Given the description of an element on the screen output the (x, y) to click on. 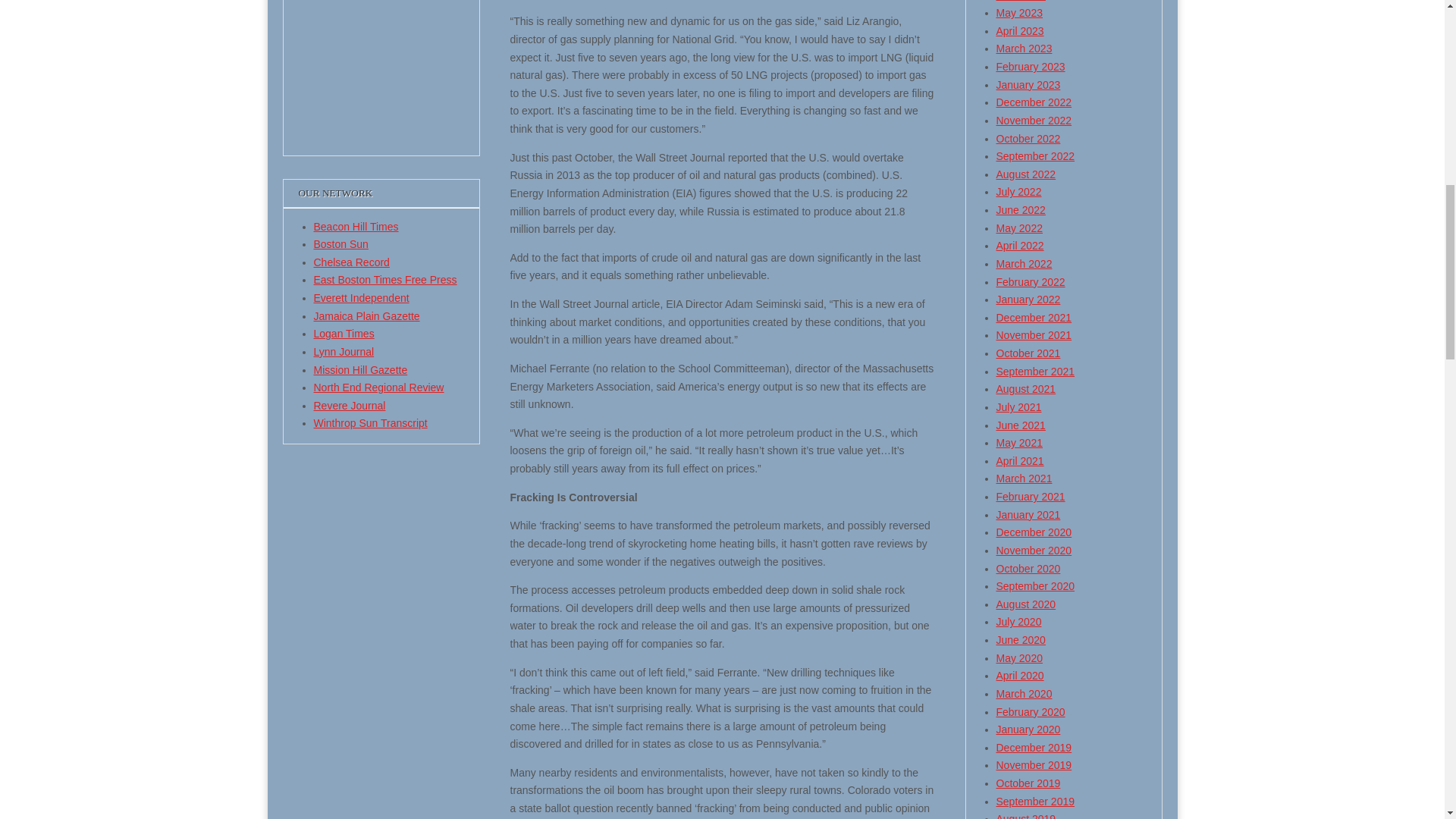
Lynn Journal (344, 351)
Jamaica Plain Gazette (367, 316)
Logan Times (344, 333)
Winthrop Sun Transcript (371, 422)
Boston Sun (341, 244)
Beacon Hill Times (356, 226)
Chelsea Record (352, 262)
North End Regional Review (379, 387)
Mission Hill Gazette (360, 369)
Revere Journal (349, 405)
